Given the description of an element on the screen output the (x, y) to click on. 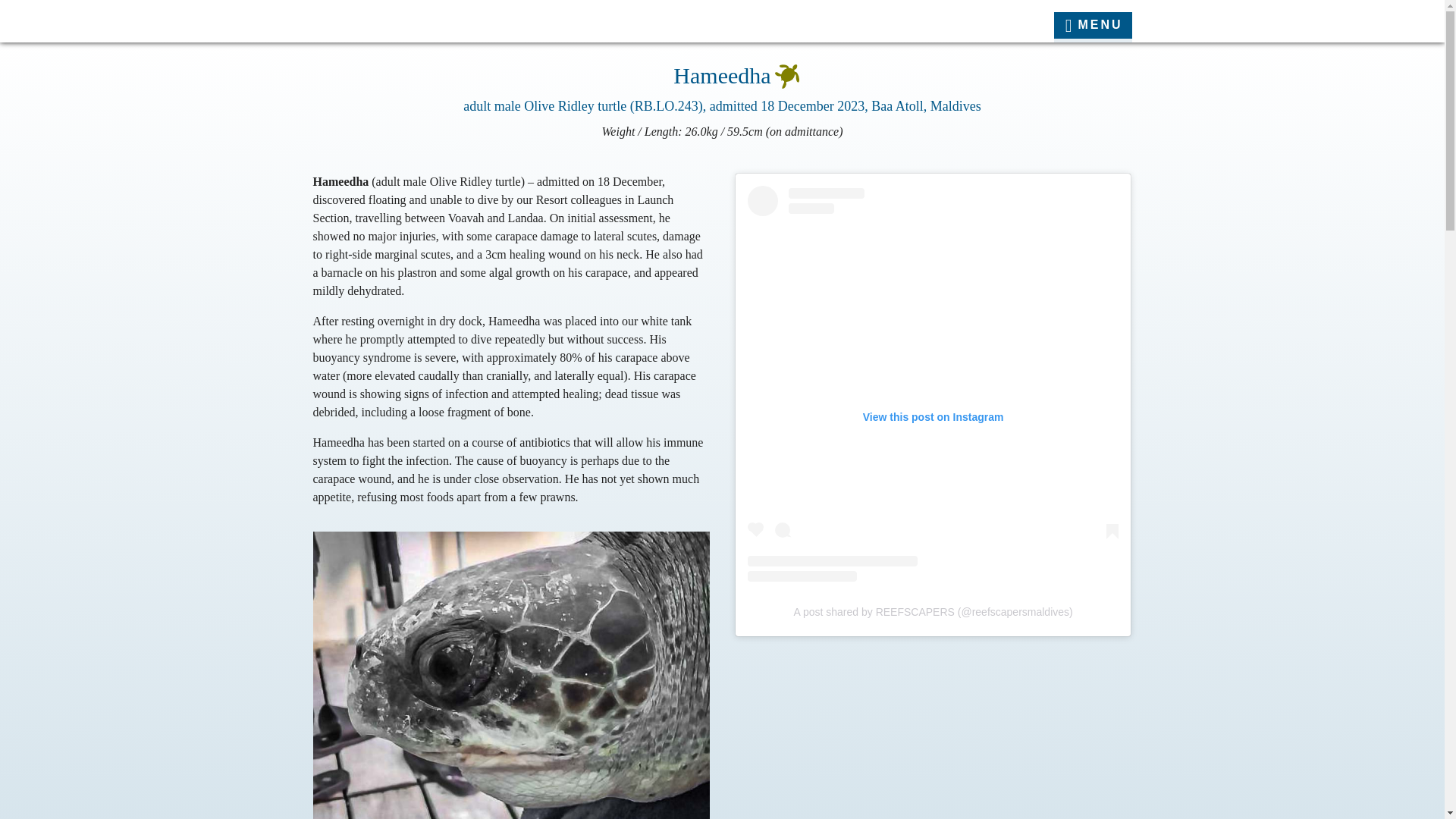
MENU (1093, 27)
HAMEEDHA olive ridley turtle Maldives (511, 675)
